Given the description of an element on the screen output the (x, y) to click on. 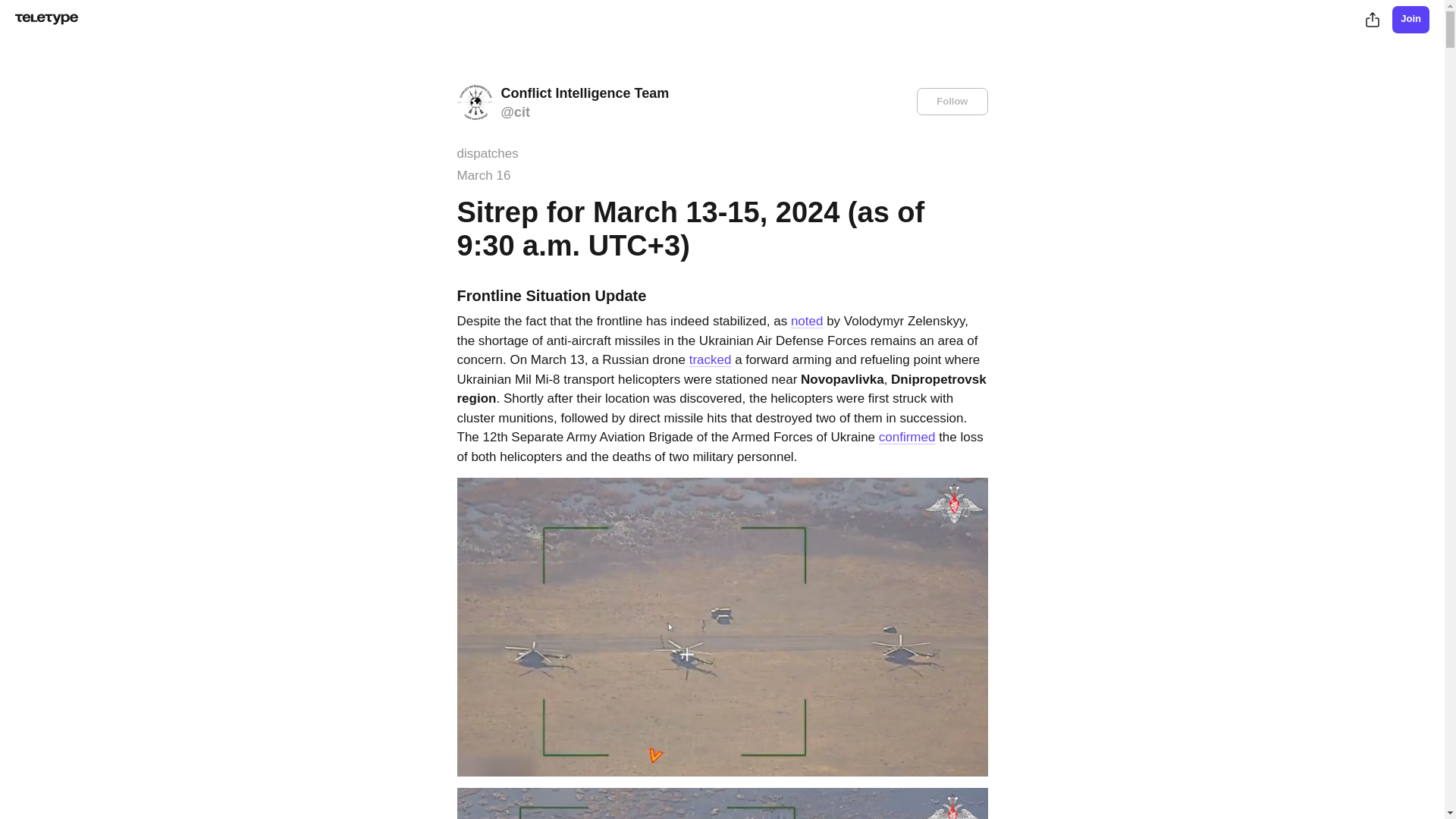
Follow (952, 101)
confirmed (907, 436)
dispatches (487, 153)
noted (807, 320)
Share (1371, 19)
tracked (710, 359)
Join (1410, 19)
